Given the description of an element on the screen output the (x, y) to click on. 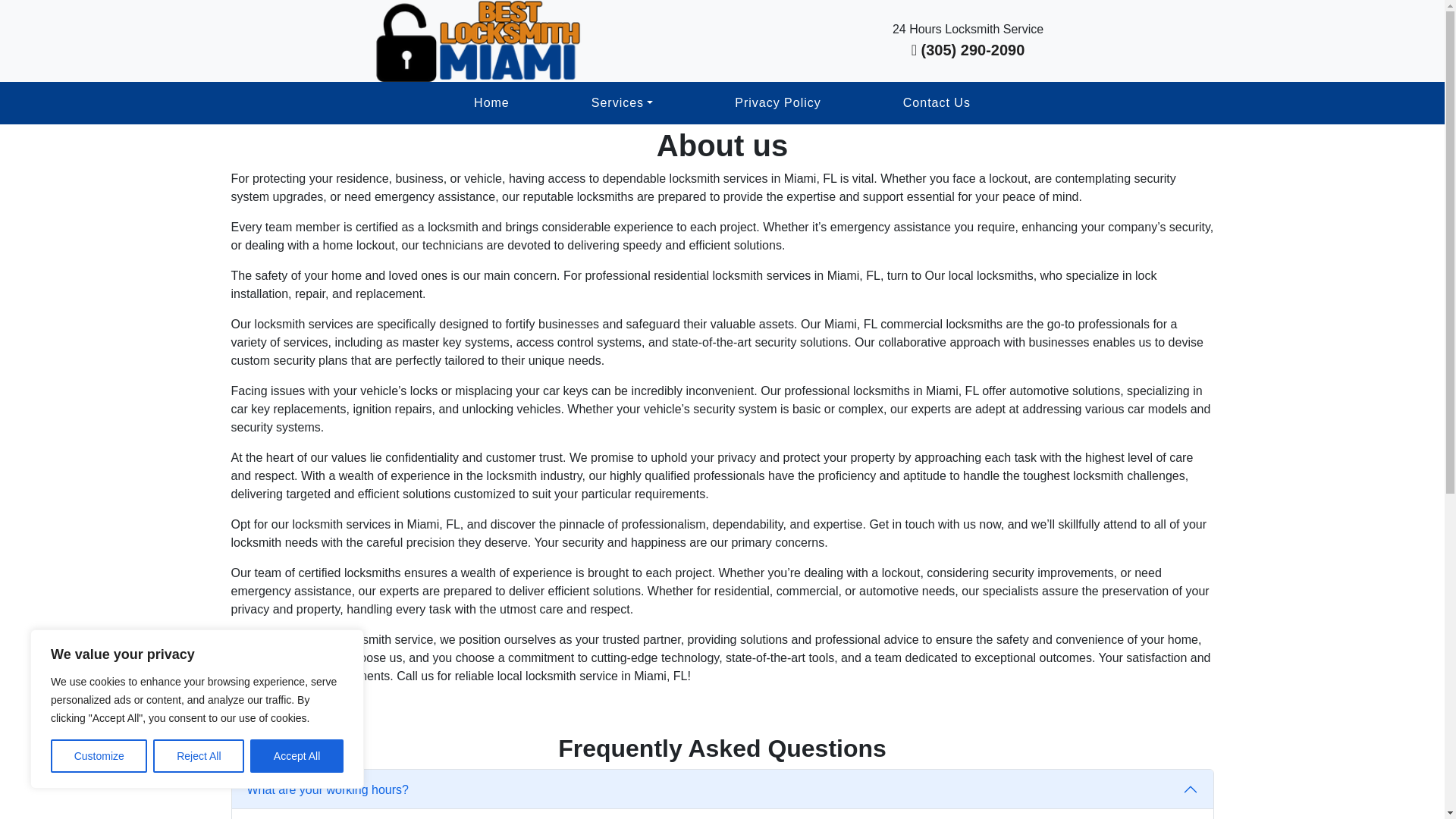
Accept All (296, 756)
Reject All (198, 756)
Home (491, 103)
Customize (98, 756)
Services (621, 103)
